Given the description of an element on the screen output the (x, y) to click on. 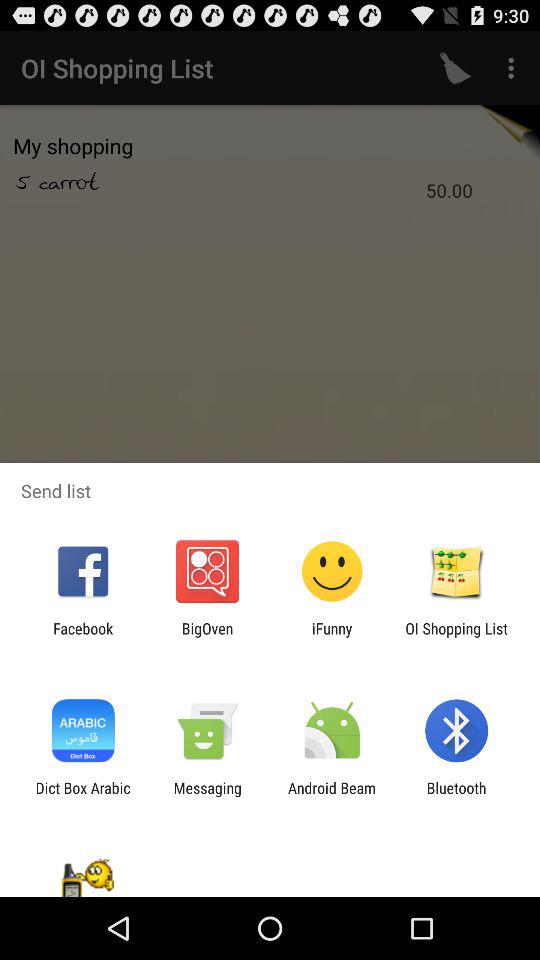
choose item next to the dict box arabic (207, 796)
